Given the description of an element on the screen output the (x, y) to click on. 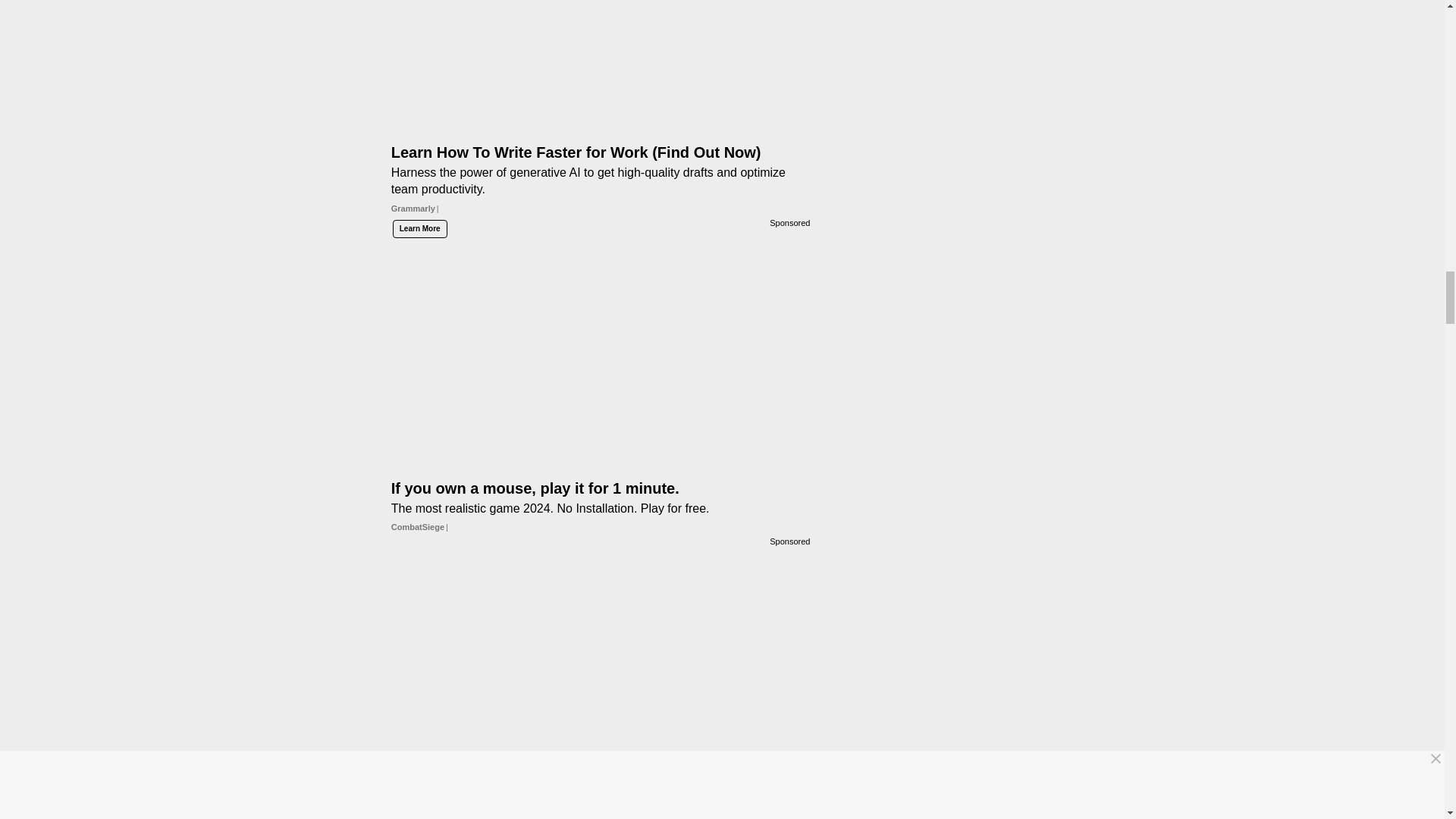
If you own a mouse, play it for 1 minute. (600, 472)
